Given the description of an element on the screen output the (x, y) to click on. 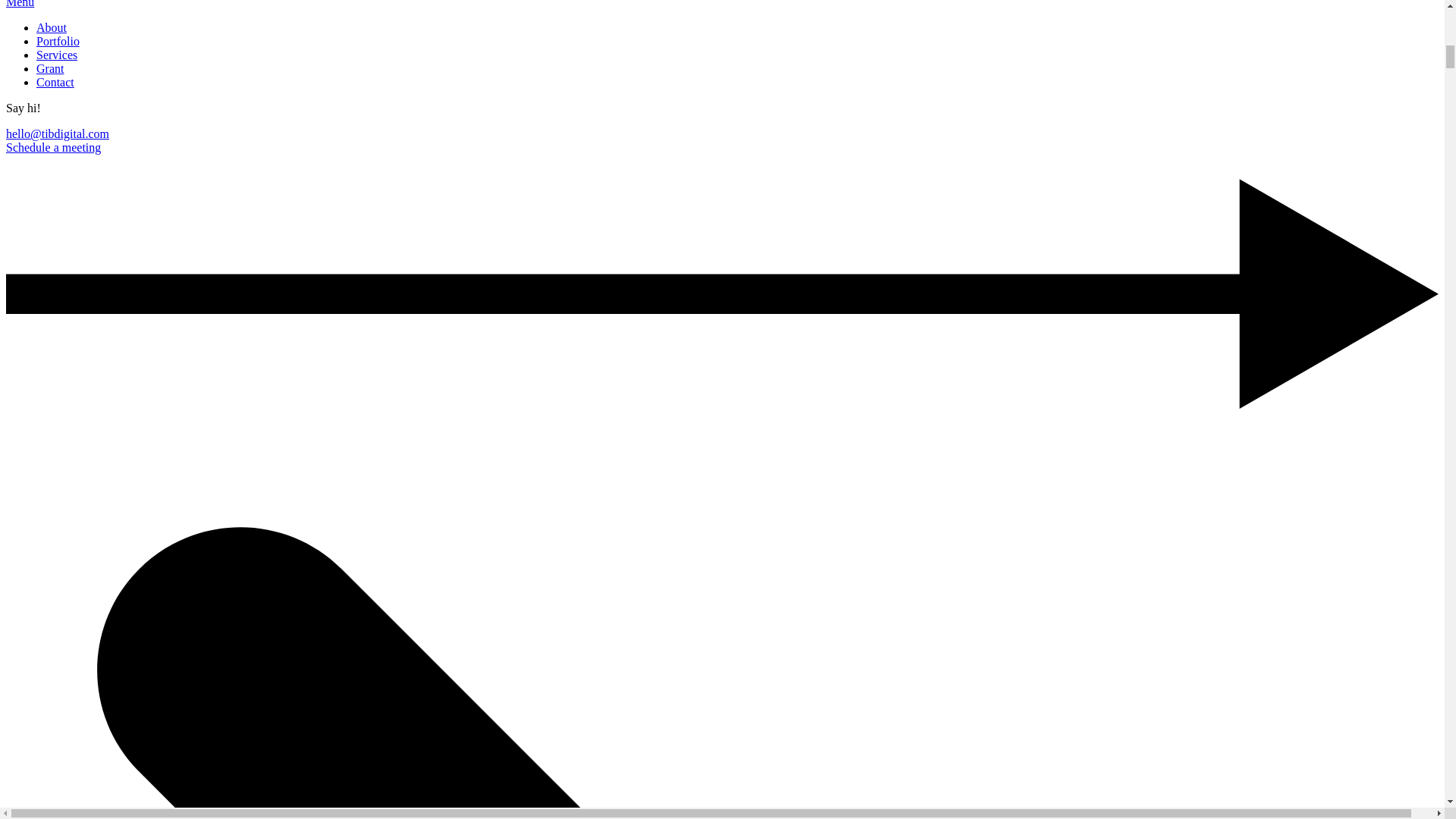
About (51, 27)
Grant (50, 68)
Contact (55, 82)
Portfolio (58, 41)
Services (56, 54)
